Given the description of an element on the screen output the (x, y) to click on. 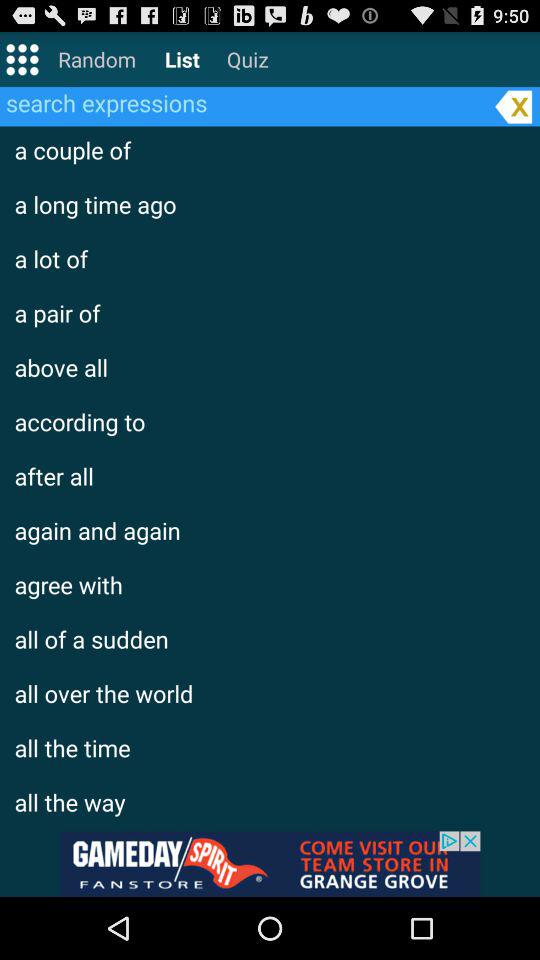
click the close button on the web page (513, 106)
click on list on the top of the page (182, 59)
